Given the description of an element on the screen output the (x, y) to click on. 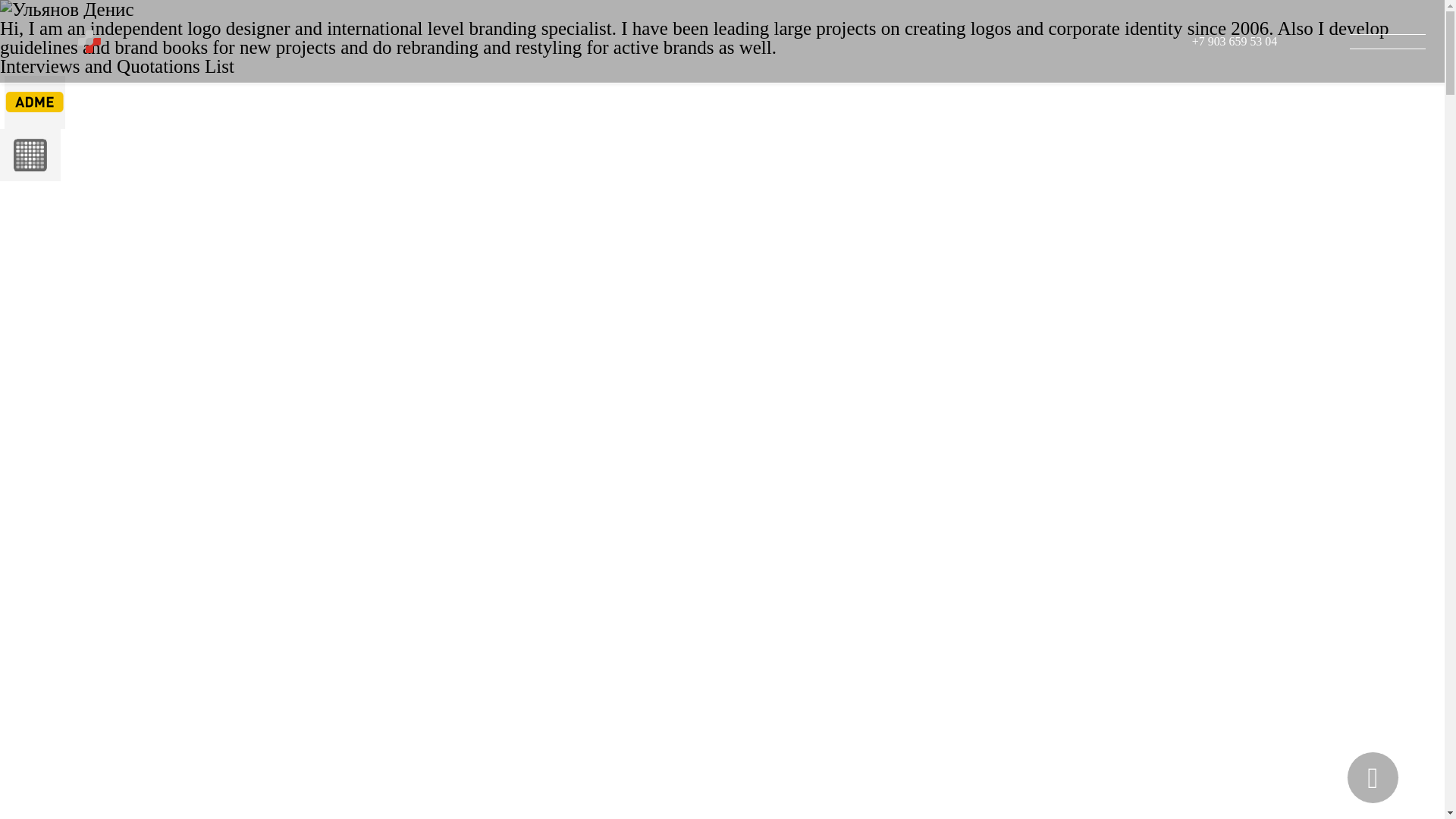
Interviews and Quotations List (117, 66)
Interview at logolounge.com 2008 (2, 228)
10 prominent Russian designers. ADME.RU (32, 85)
Publication in Pixel Arts (2, 190)
Baker's dozen of Russian design (32, 137)
